Given the description of an element on the screen output the (x, y) to click on. 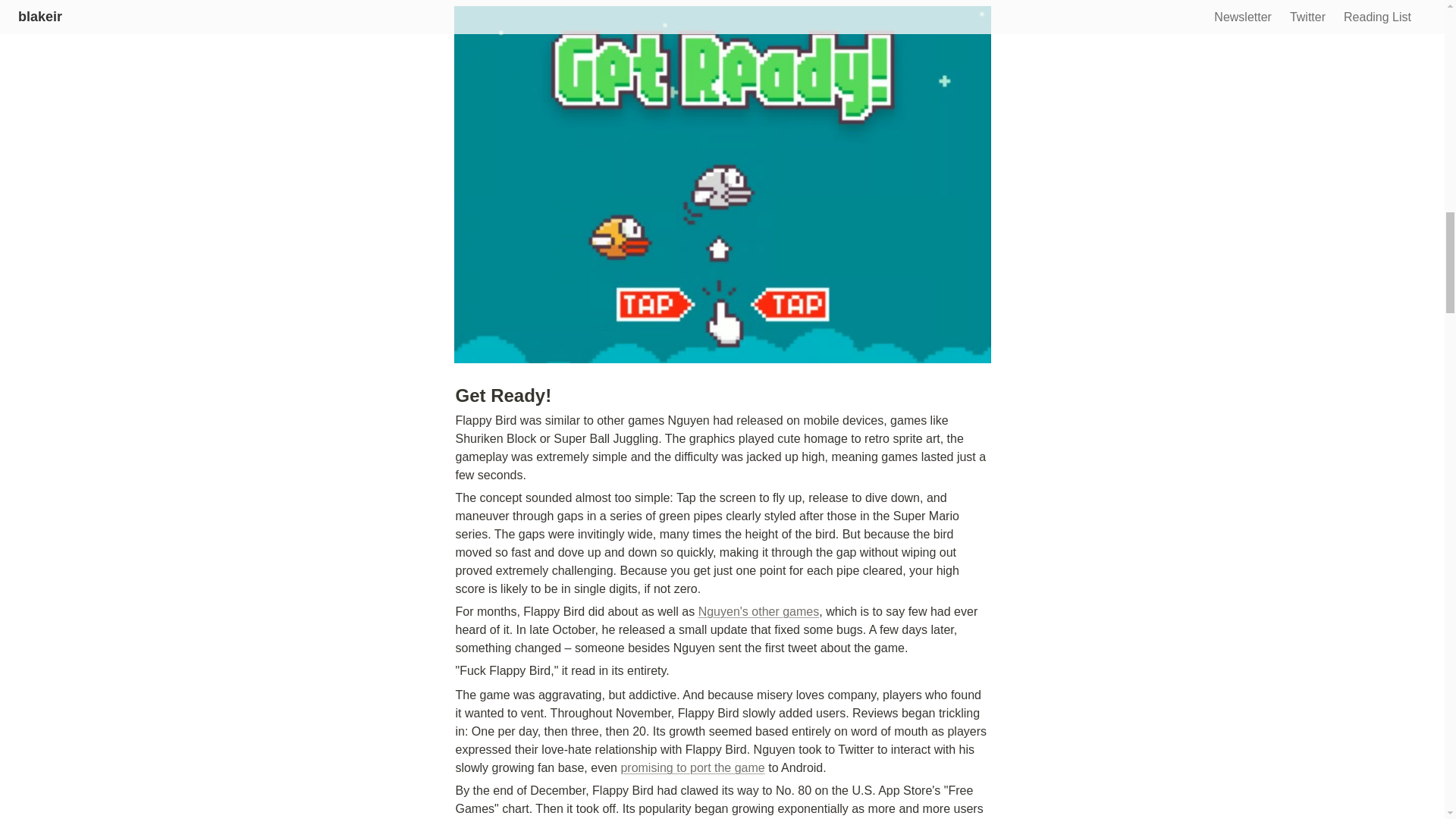
promising to port the game (692, 767)
Nguyen's other games (758, 611)
